Given the description of an element on the screen output the (x, y) to click on. 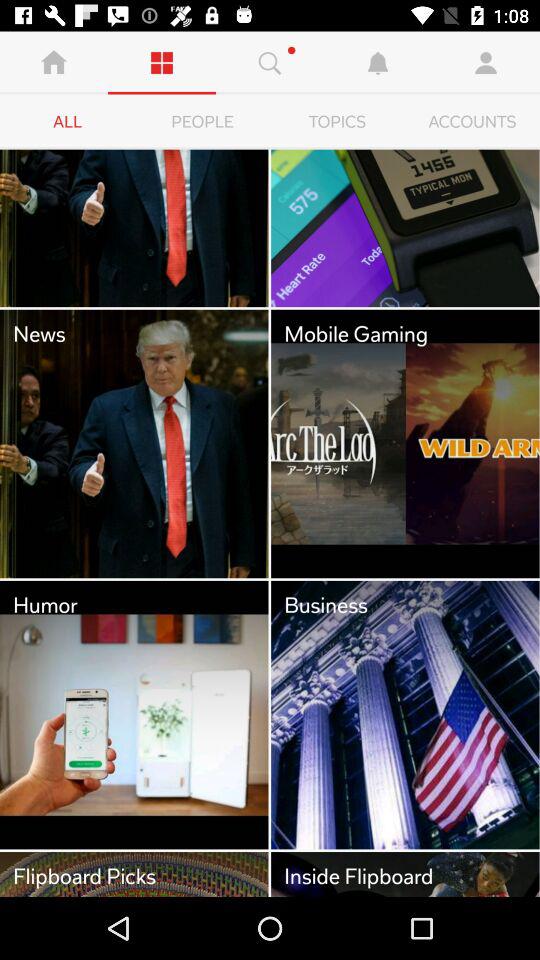
scroll to the people item (202, 121)
